Given the description of an element on the screen output the (x, y) to click on. 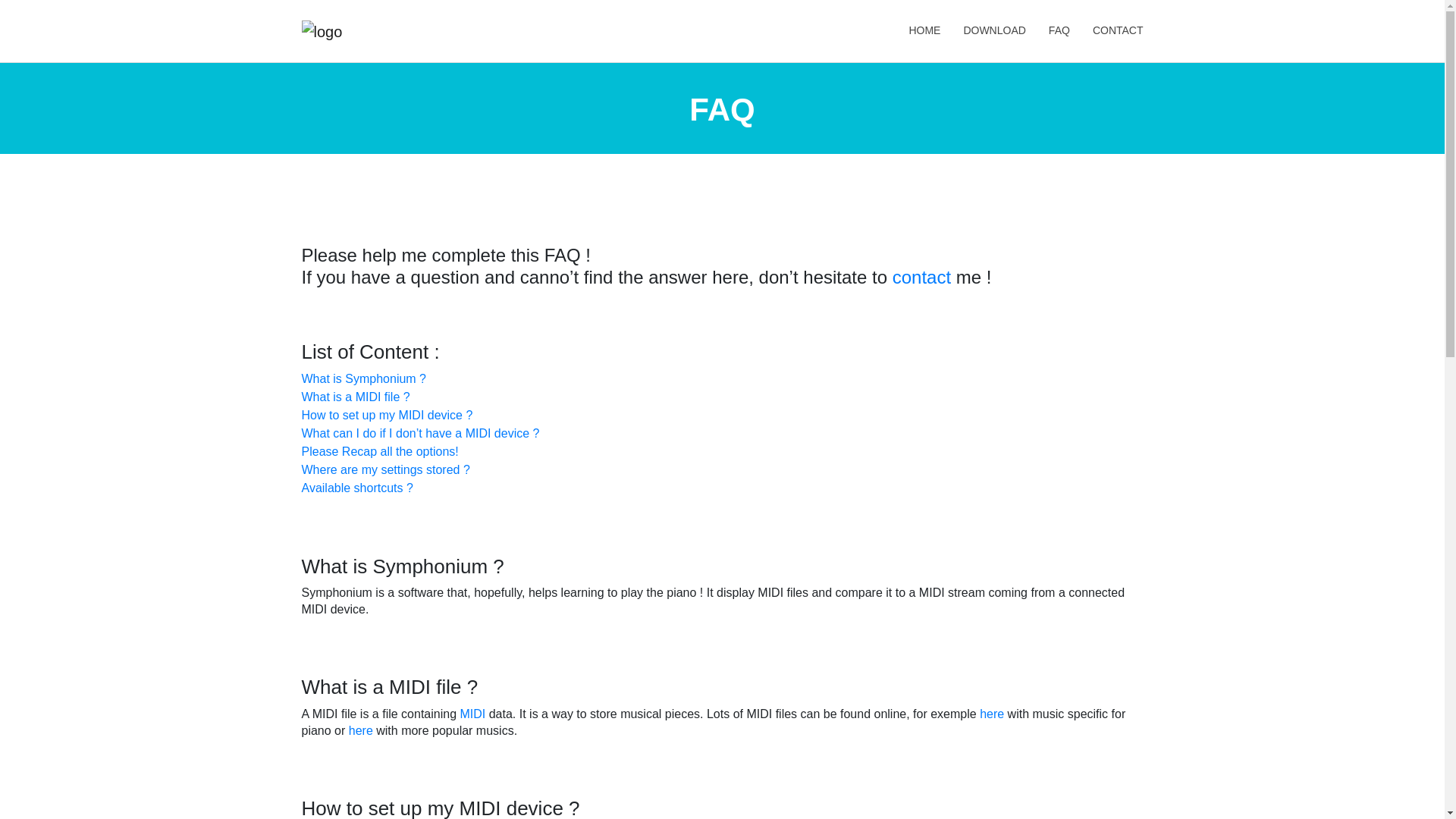
What is a MIDI file ? (355, 396)
DOWNLOAD (994, 30)
What is Symphonium ? (363, 378)
How to set up my MIDI device ? (387, 414)
contact (921, 276)
CONTACT (1111, 30)
HOME (924, 30)
Available shortcuts ? (357, 487)
here (991, 713)
FAQ (1058, 30)
Where are my settings stored ? (385, 469)
MIDI (472, 713)
Please Recap all the options! (379, 451)
here (360, 730)
